Given the description of an element on the screen output the (x, y) to click on. 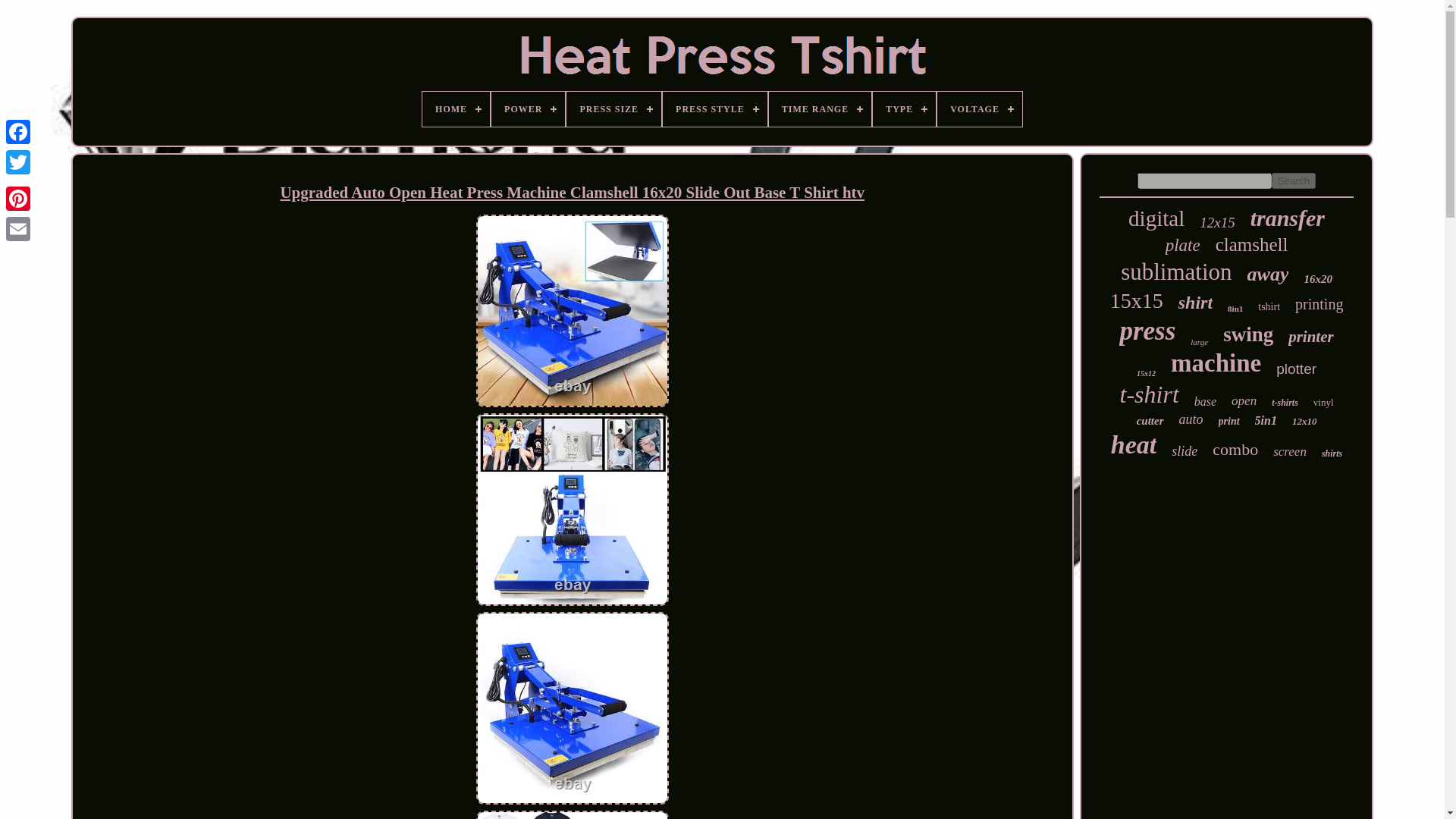
Search (1293, 180)
Twitter (17, 162)
PRESS SIZE (613, 108)
POWER (528, 108)
HOME (455, 108)
